Given the description of an element on the screen output the (x, y) to click on. 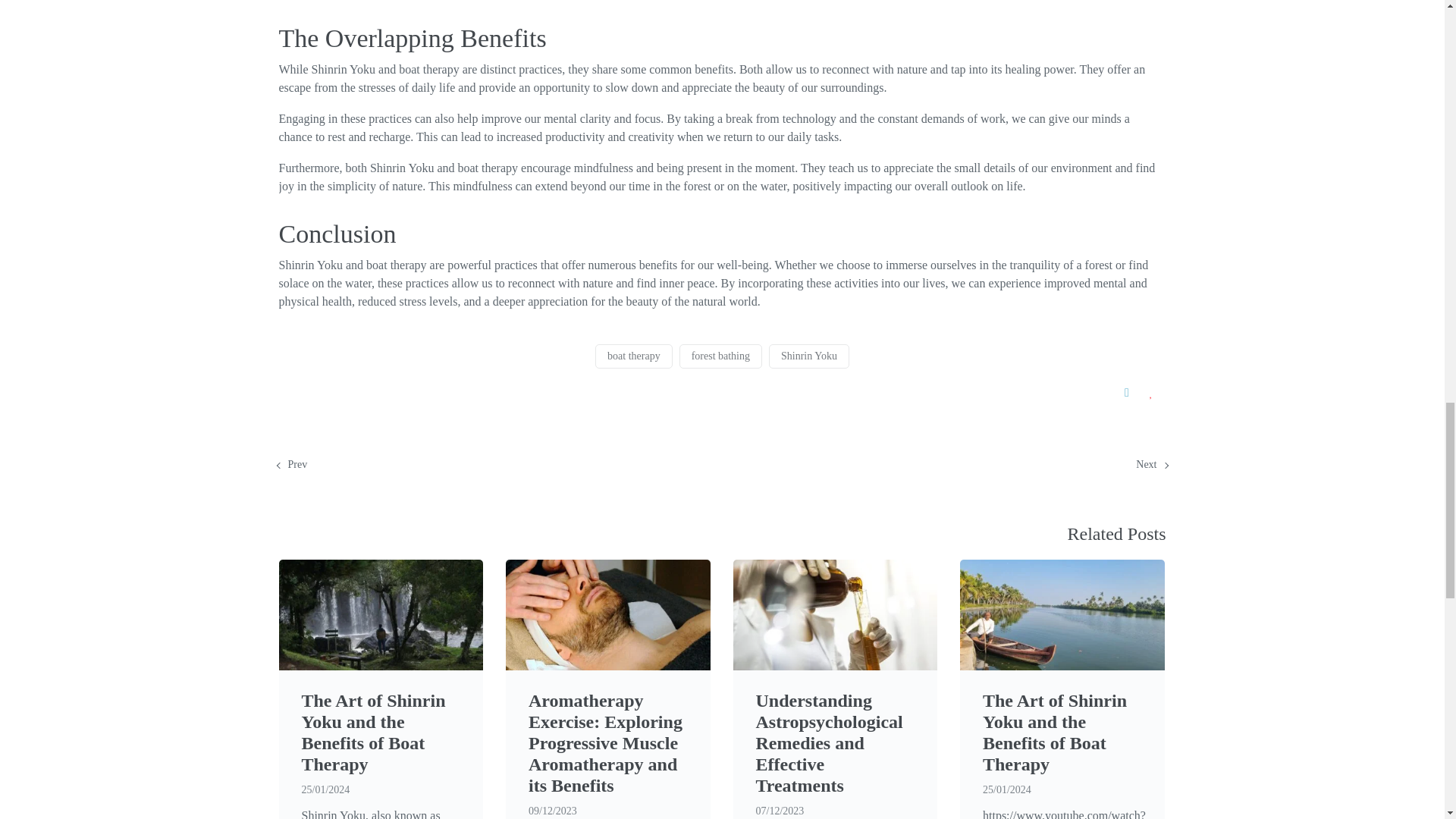
0 Likes (1153, 392)
